Given the description of an element on the screen output the (x, y) to click on. 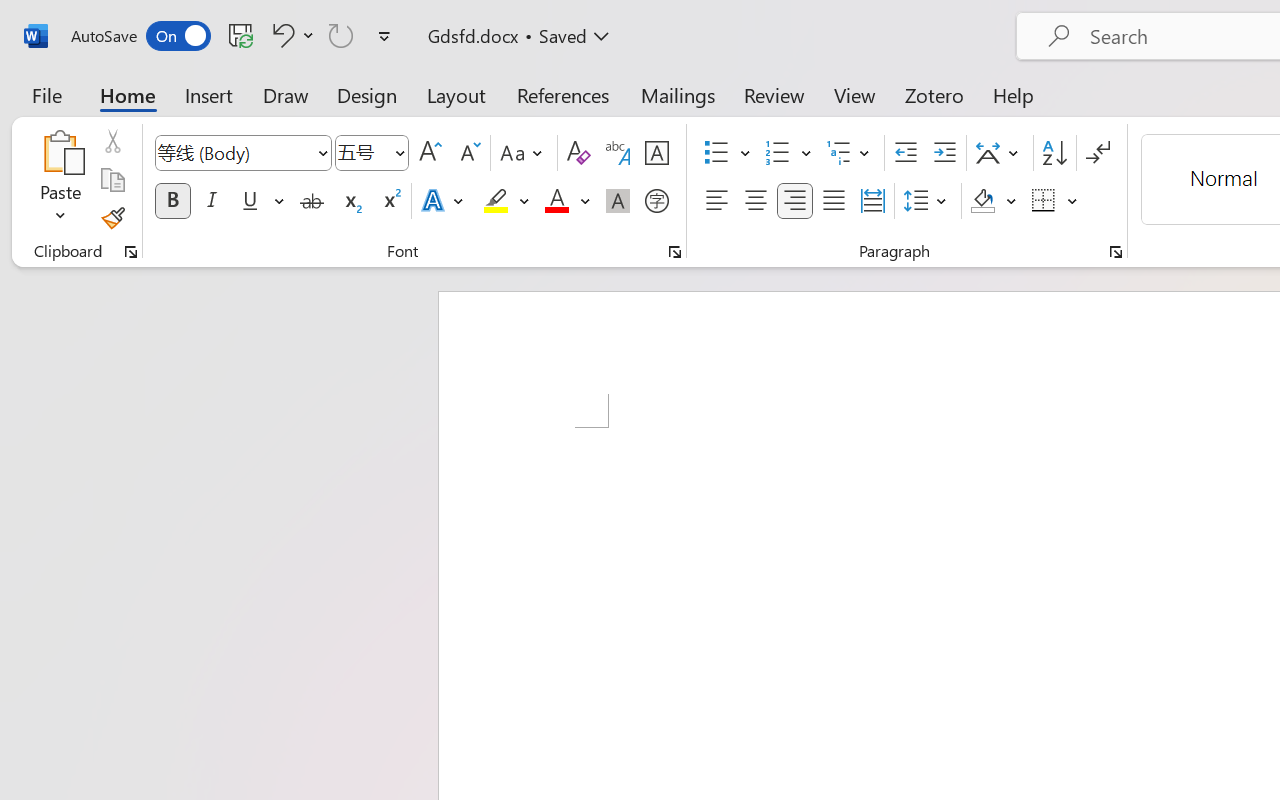
Sort... (1054, 153)
Cut (112, 141)
Font Color Red (556, 201)
Can't Repeat (341, 35)
Distributed (872, 201)
Strikethrough (312, 201)
Enclose Characters... (656, 201)
Character Shading (618, 201)
Text Effects and Typography (444, 201)
Align Right (794, 201)
